Given the description of an element on the screen output the (x, y) to click on. 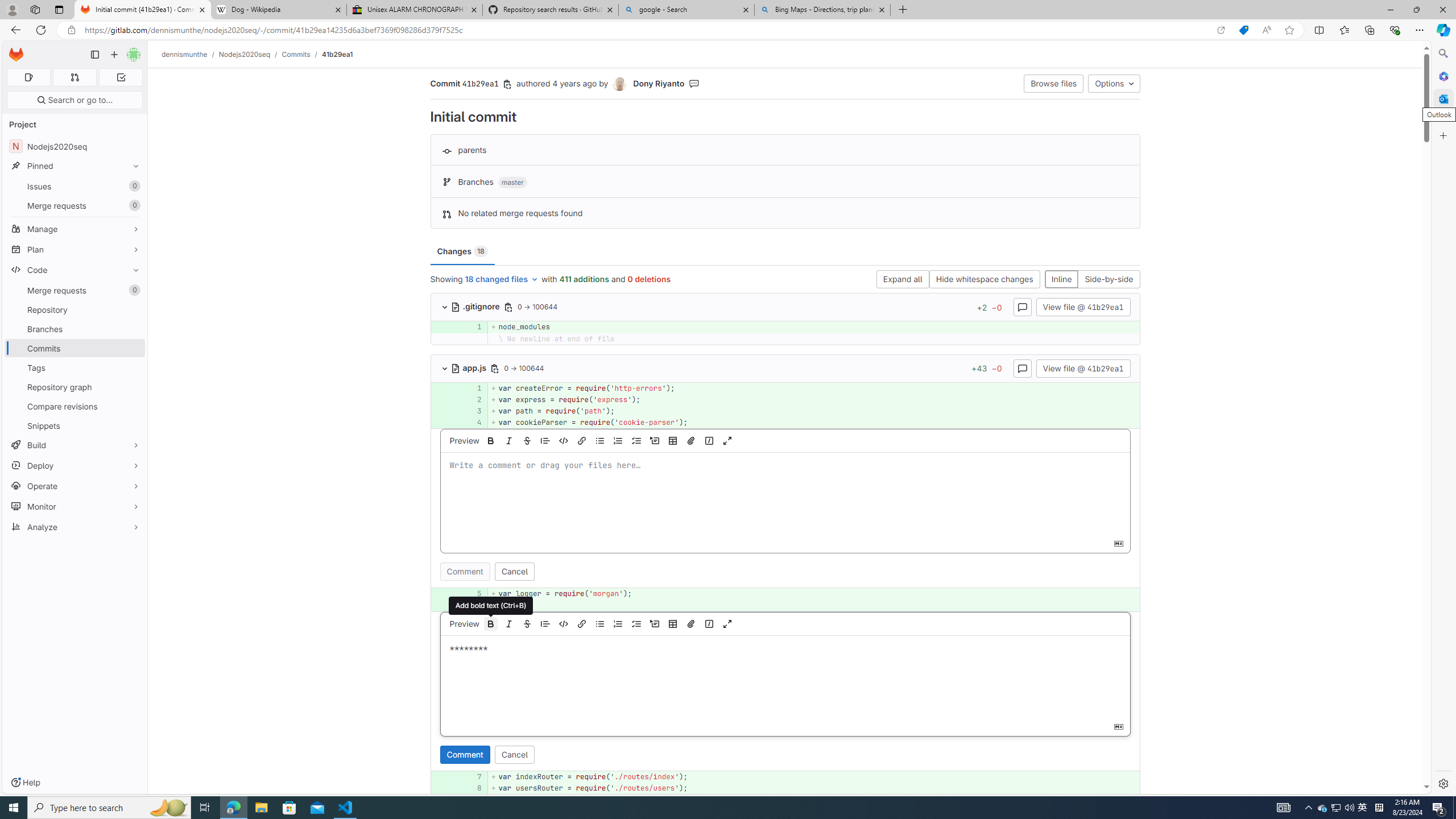
7 (471, 776)
Compare revisions (74, 406)
8 (472, 788)
Nodejs2020seq/ (250, 53)
Side bar (1443, 418)
Skip to main content (13, 49)
Repository (74, 309)
Monitor (74, 506)
18 changed files (501, 279)
Commits (74, 348)
View file @ 41b29ea1 (1083, 367)
